Given the description of an element on the screen output the (x, y) to click on. 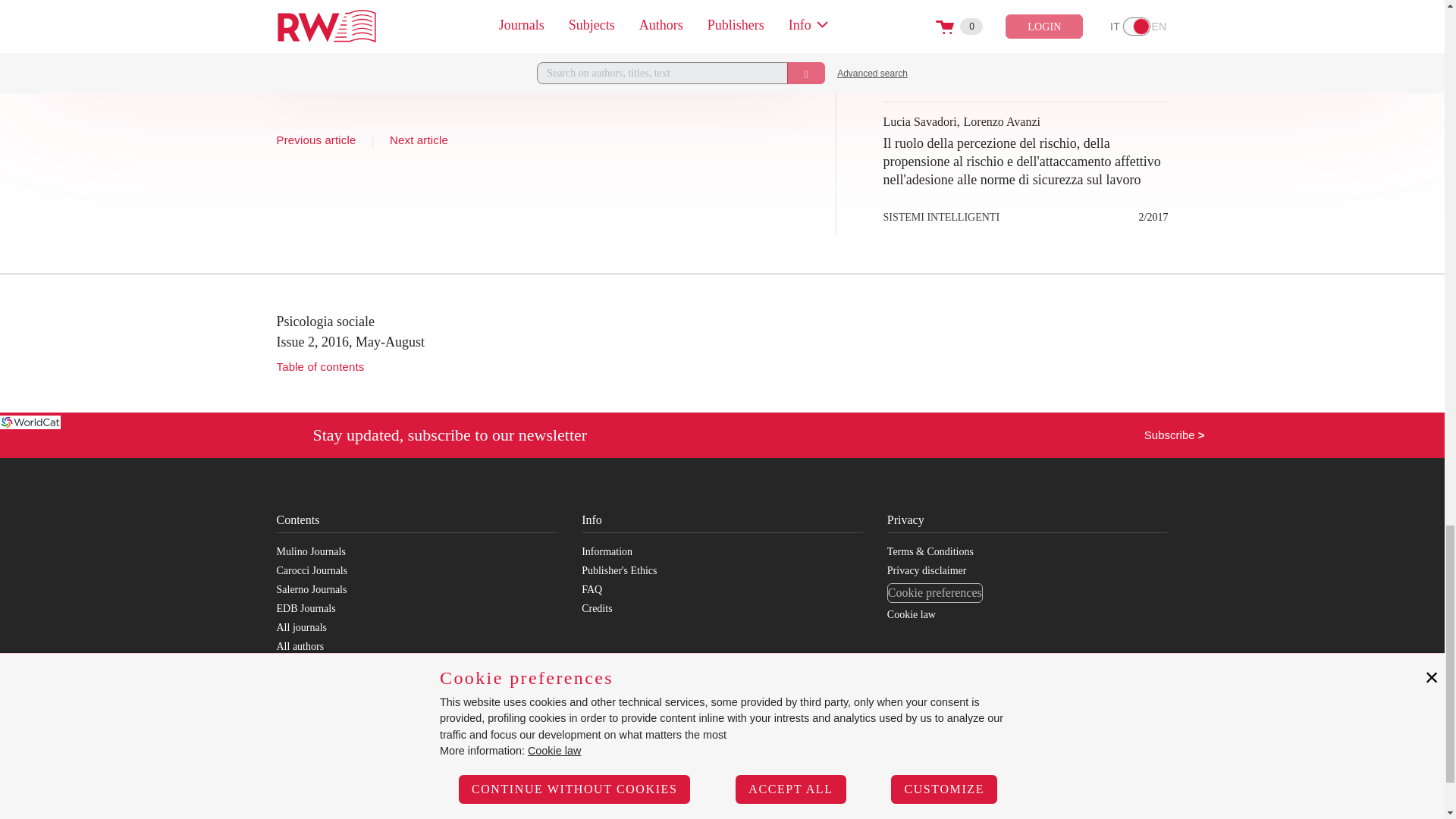
Show next article (419, 140)
Show previous article (315, 140)
